Given the description of an element on the screen output the (x, y) to click on. 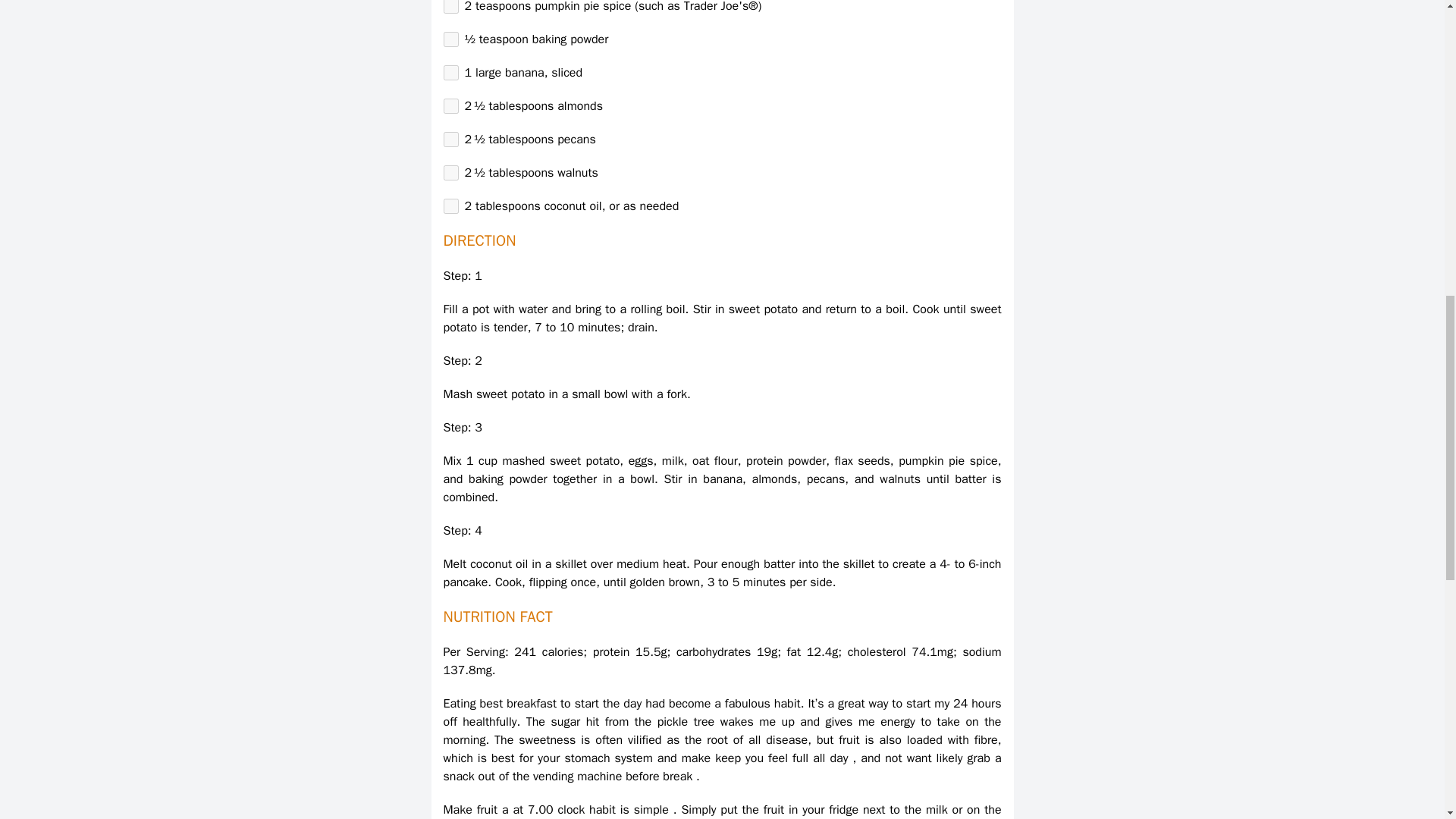
on (450, 206)
on (450, 72)
on (450, 6)
on (450, 38)
on (450, 172)
on (450, 139)
on (450, 105)
